Given the description of an element on the screen output the (x, y) to click on. 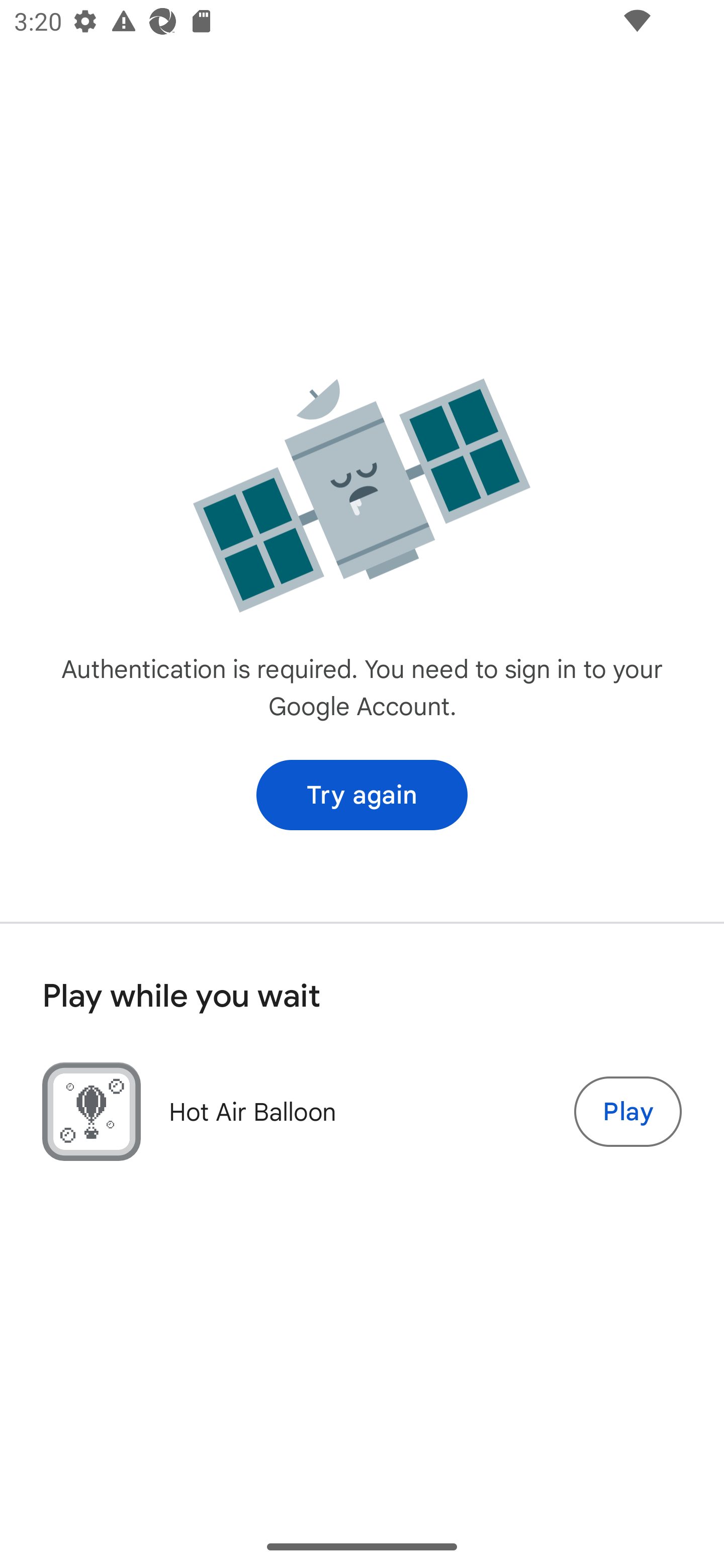
Try again (361, 794)
Play (628, 1111)
